Given the description of an element on the screen output the (x, y) to click on. 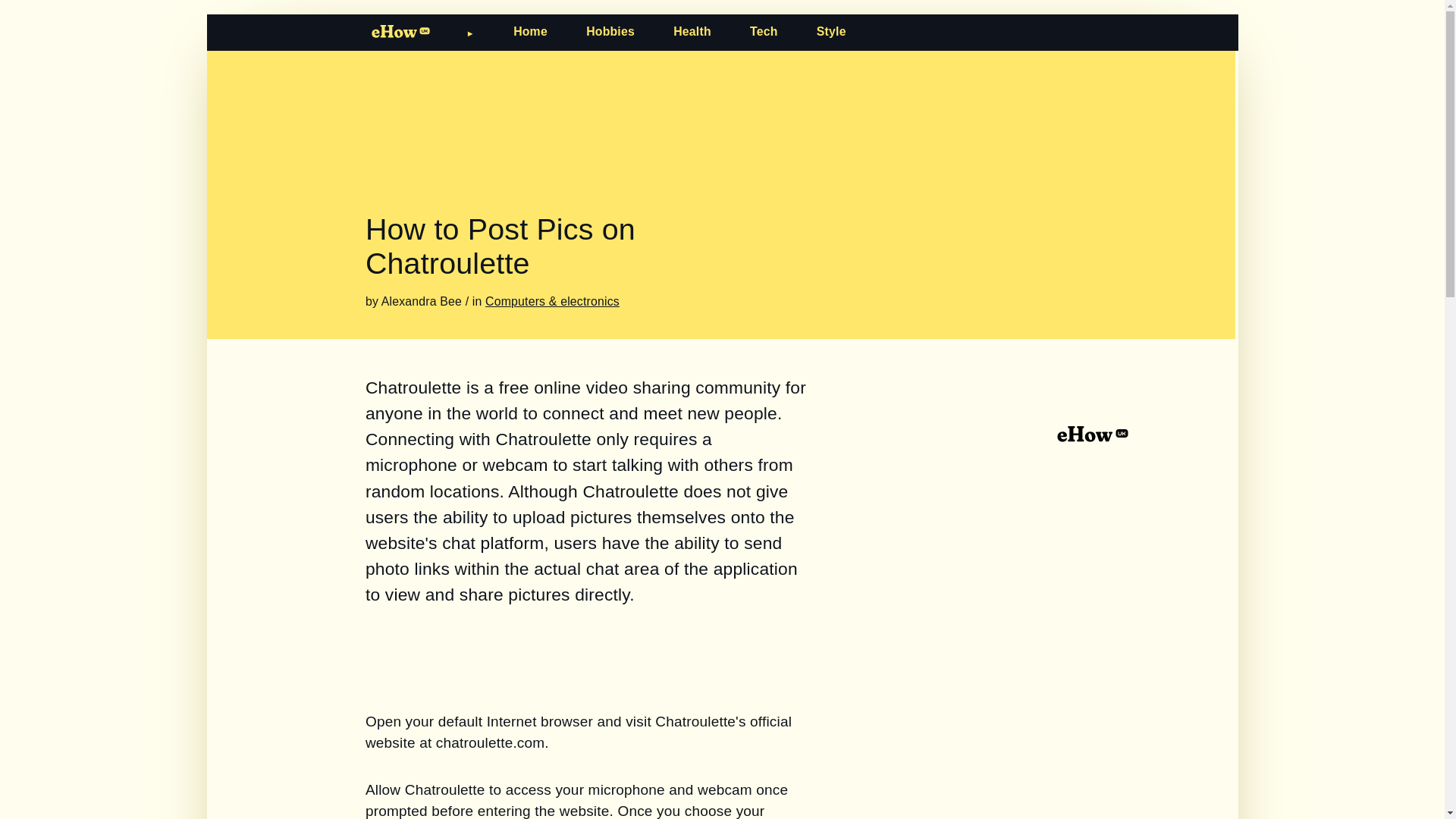
Health (691, 31)
Hobbies (610, 31)
Style (830, 31)
Home (530, 31)
Tech (763, 31)
